Given the description of an element on the screen output the (x, y) to click on. 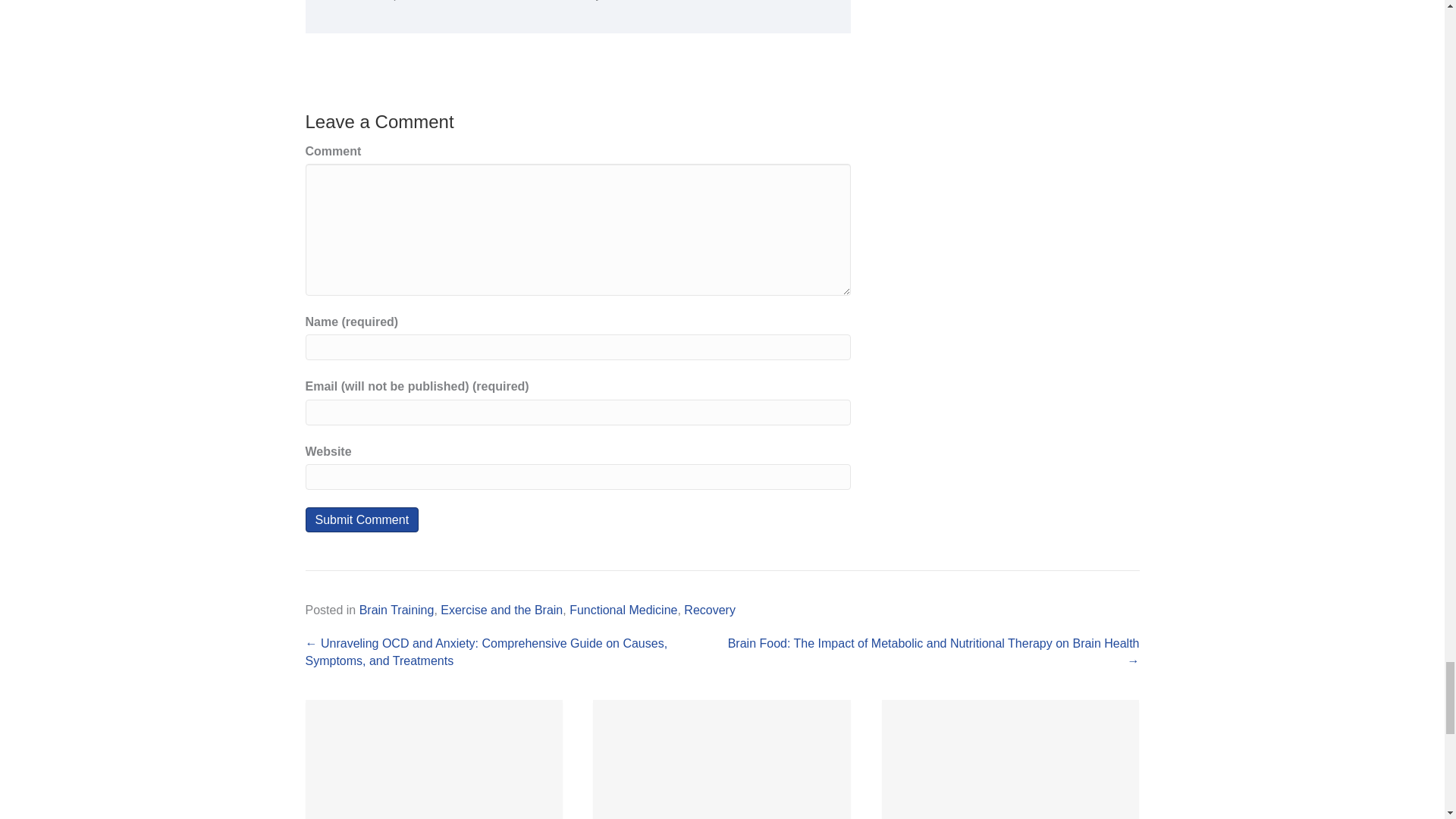
Submit Comment (361, 519)
